Given the description of an element on the screen output the (x, y) to click on. 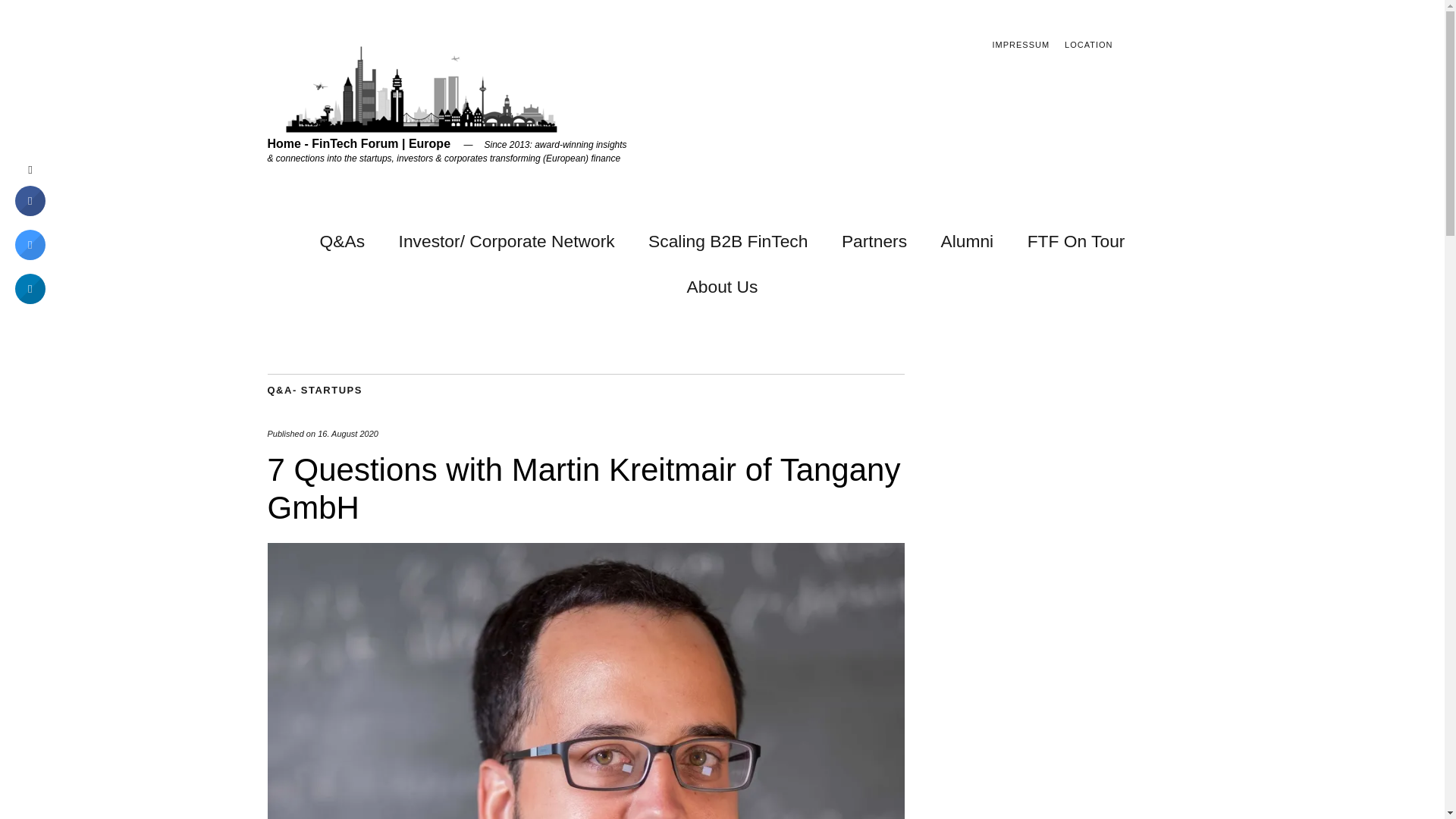
16. August 2020 (347, 433)
FTF On Tour (1076, 237)
LOCATION (1088, 44)
Partners (874, 237)
Alumni (966, 237)
About Us (722, 283)
Share on Facebook (29, 211)
Share on LinkedIn (29, 299)
Share on Twitter (29, 255)
Scaling B2B FinTech (727, 237)
